Given the description of an element on the screen output the (x, y) to click on. 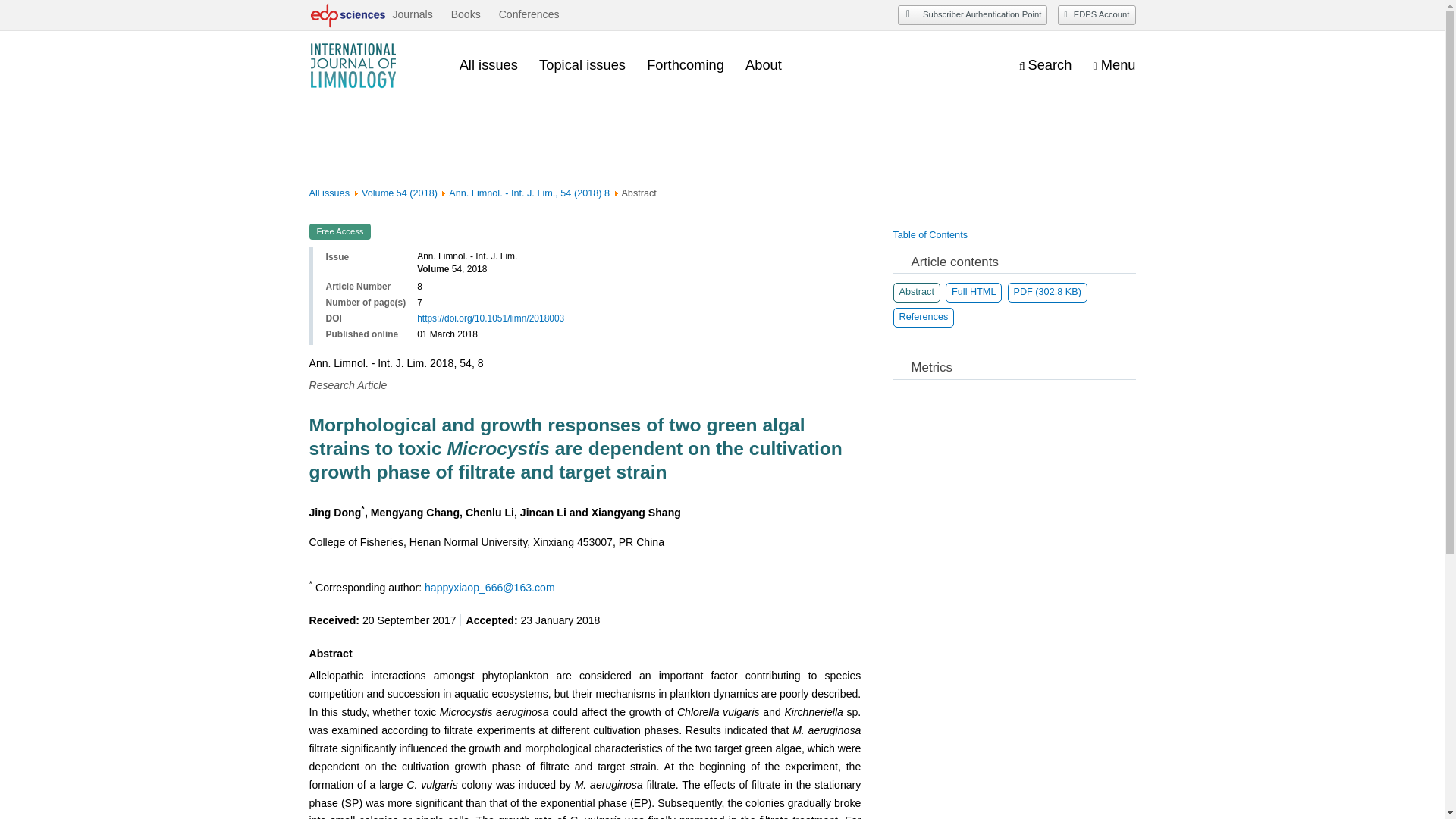
Journals (411, 14)
Journal homepage (373, 65)
Books (465, 14)
Forthcoming (684, 65)
References (924, 317)
Conferences (529, 14)
Display the search engine (1045, 66)
Topical issues (582, 65)
Abstract (916, 292)
All issues (489, 65)
